Given the description of an element on the screen output the (x, y) to click on. 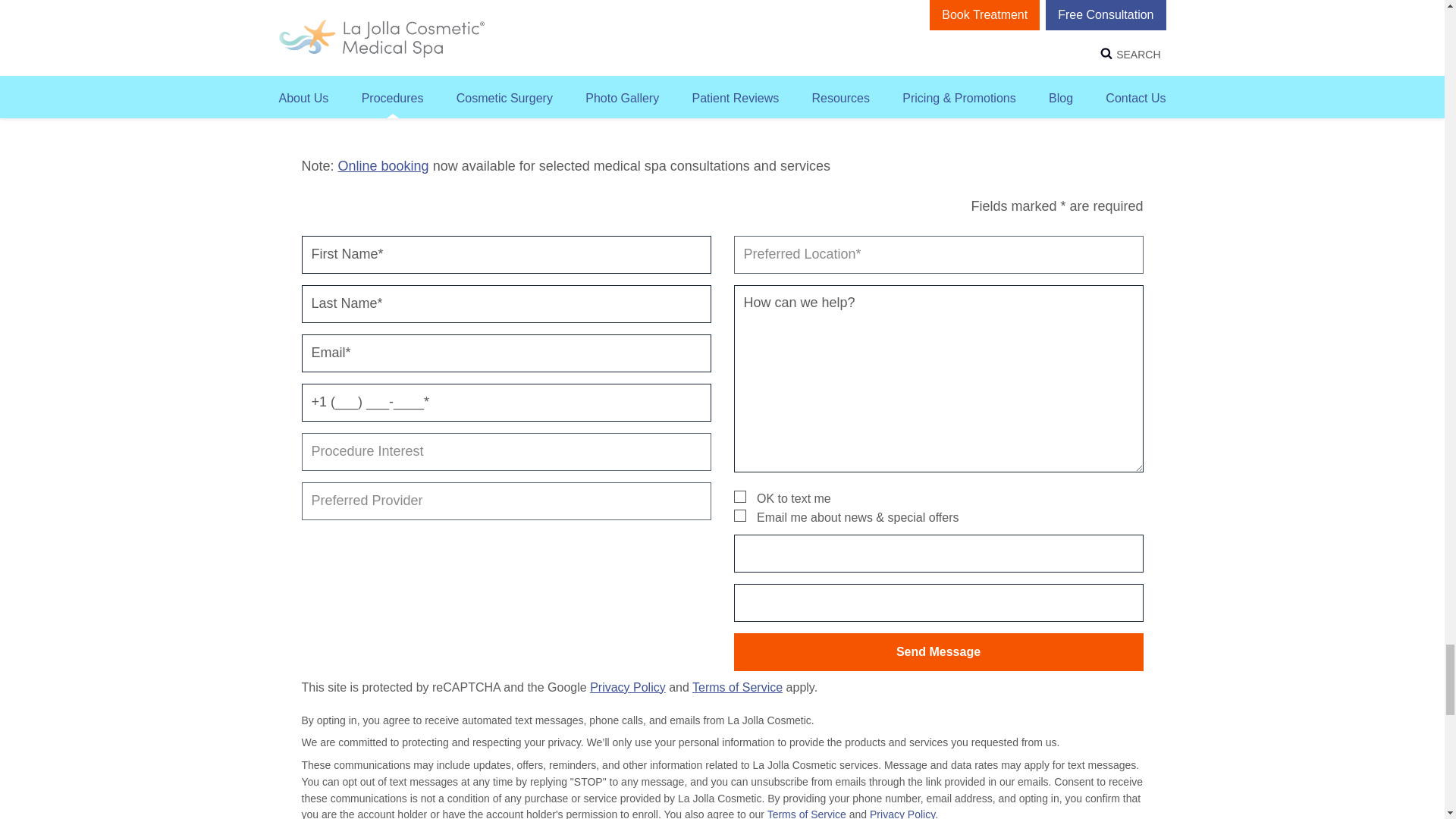
checked (739, 496)
checked (739, 515)
